Given the description of an element on the screen output the (x, y) to click on. 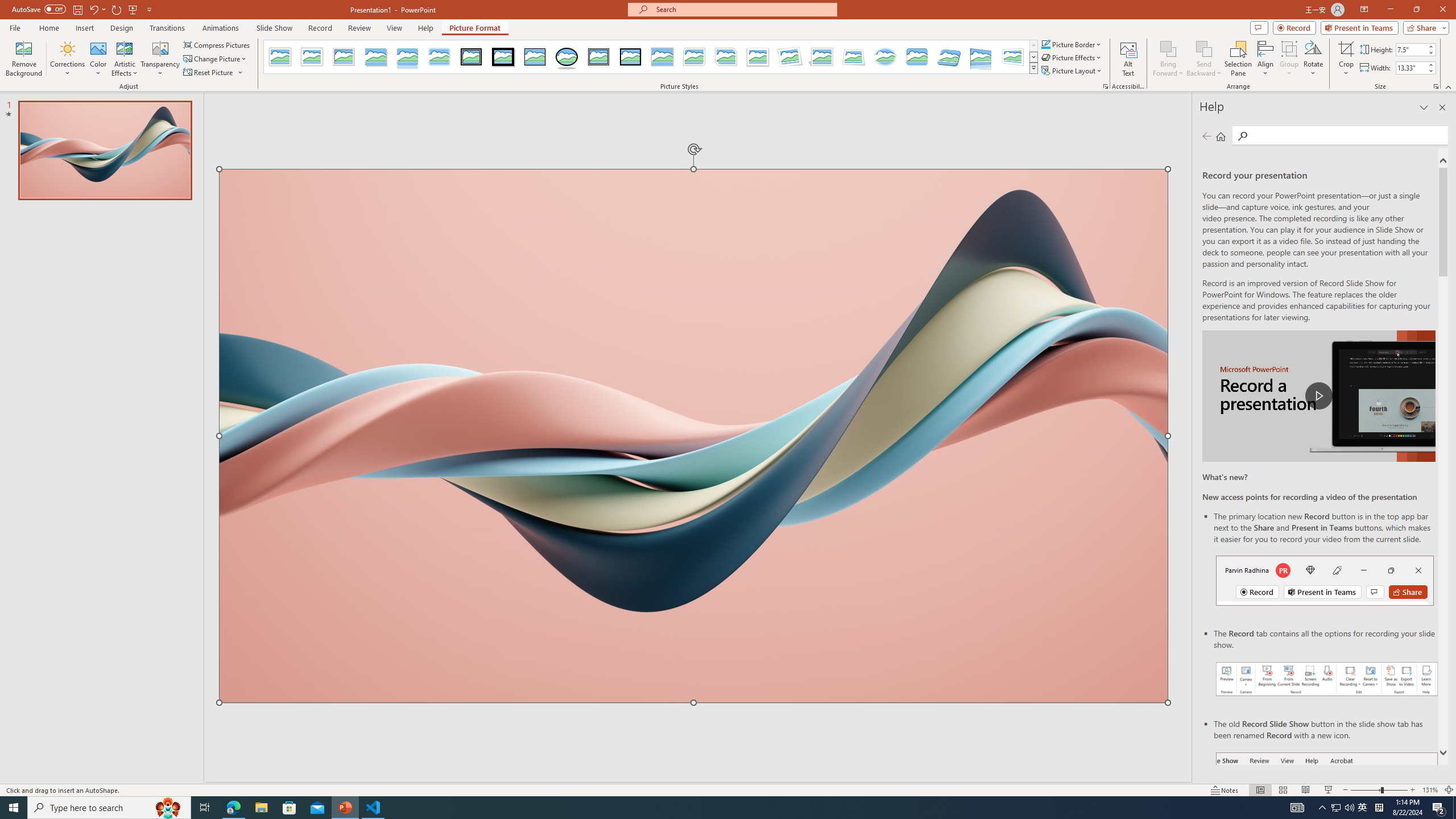
Slide Sorter (1282, 790)
Soft Edge Oval (885, 56)
From Beginning (133, 9)
Metal Frame (343, 56)
Simple Frame, Black (535, 56)
Task Pane Options (1423, 107)
Customize Quick Access Toolbar (149, 9)
Shape Height (1410, 49)
Soft Edge Rectangle (439, 56)
Center Shadow Rectangle (662, 56)
Picture Border (1071, 44)
